Given the description of an element on the screen output the (x, y) to click on. 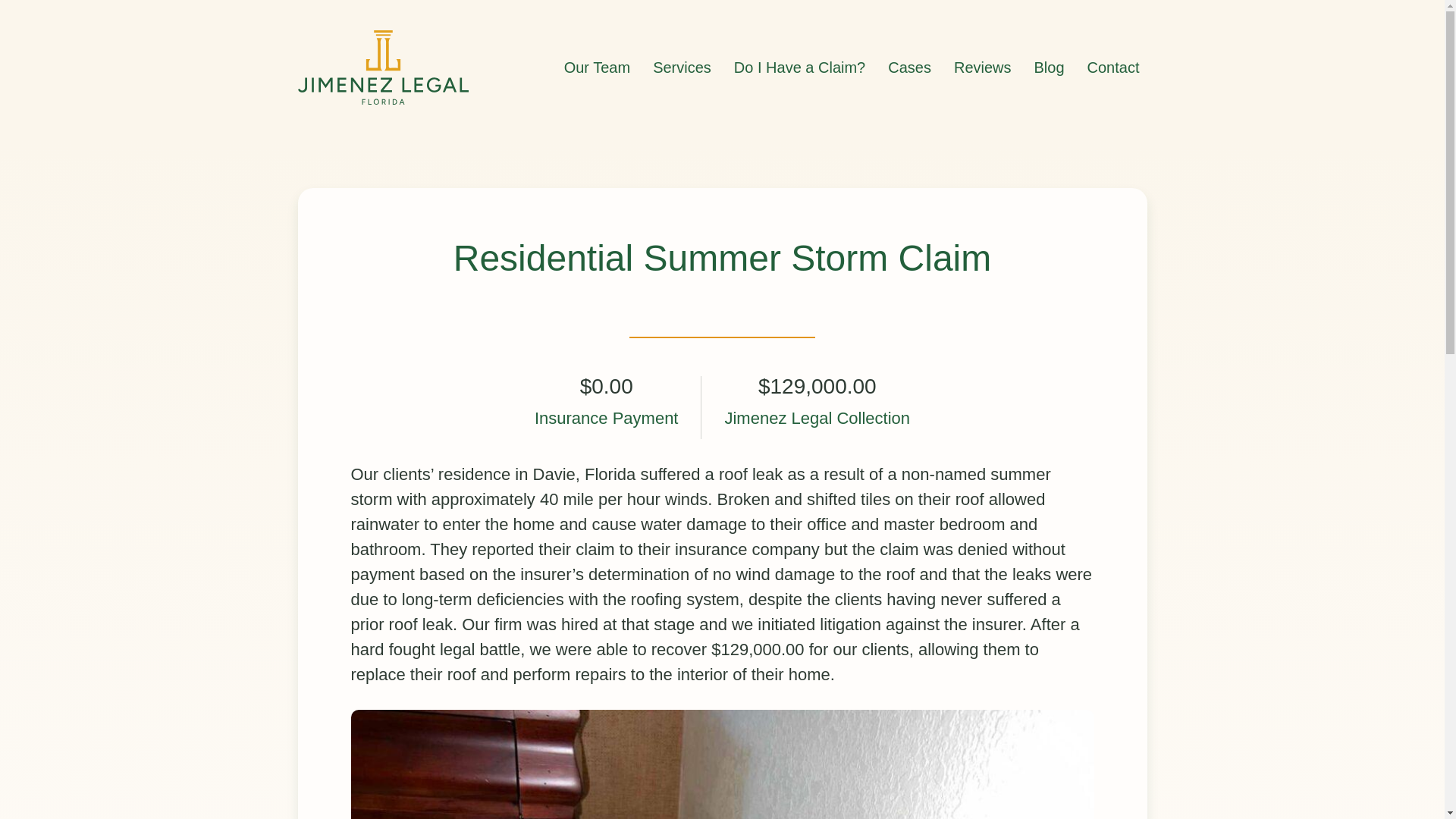
Reviews (982, 67)
Contact (1113, 67)
Do I Have a Claim? (799, 67)
Our Team (596, 67)
Blog (1048, 67)
Cases (909, 67)
Services (682, 67)
